Given the description of an element on the screen output the (x, y) to click on. 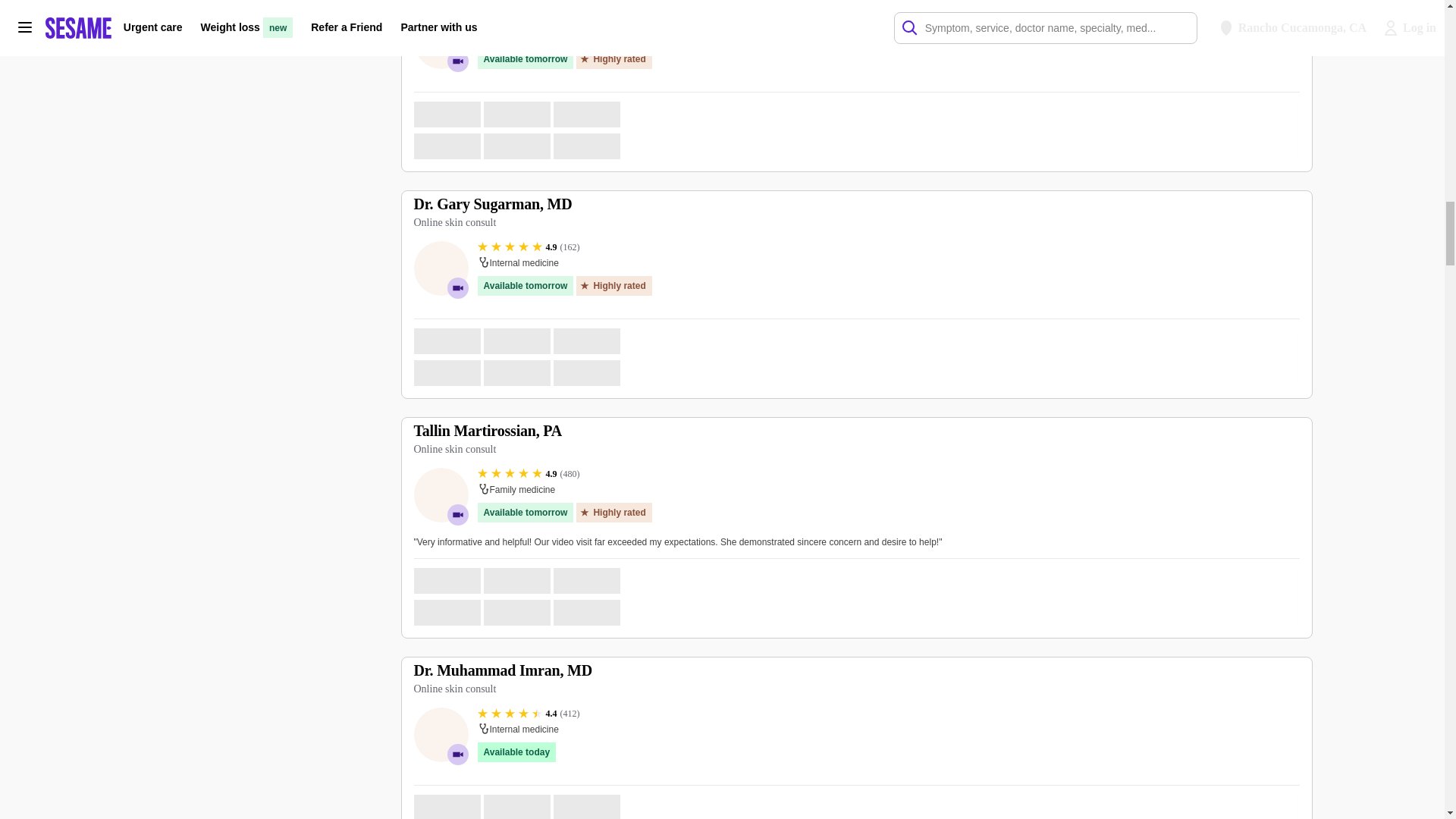
This provider has an overall rating of 4.9 out of 5 stars. (528, 246)
This provider has an overall rating of 4.4 out of 5 stars. (528, 713)
This provider has an overall rating of 5.0 out of 5 stars. (526, 20)
This provider has an overall rating of 4.9 out of 5 stars. (528, 473)
